Given the description of an element on the screen output the (x, y) to click on. 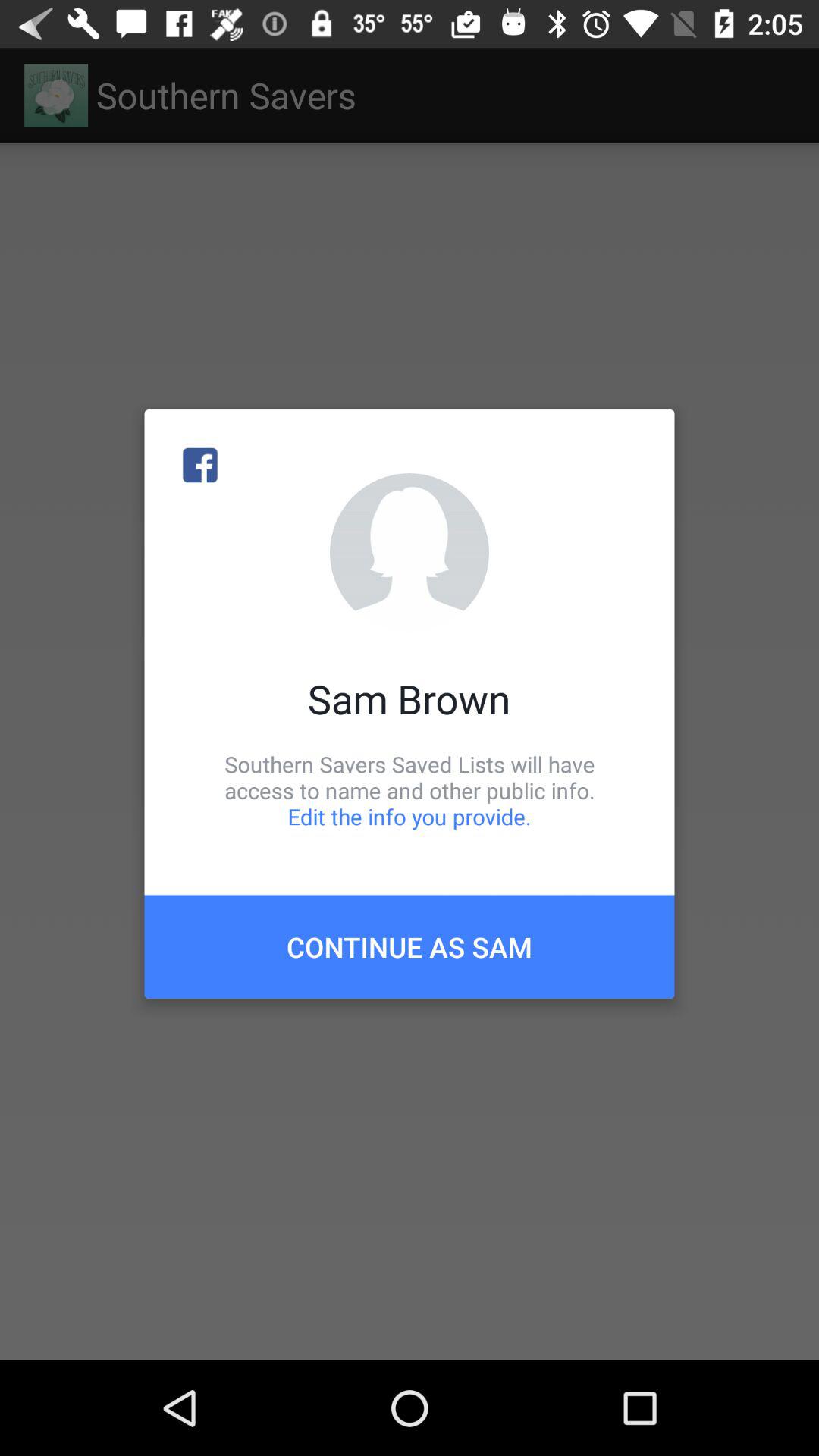
turn off icon below the sam brown (409, 790)
